Given the description of an element on the screen output the (x, y) to click on. 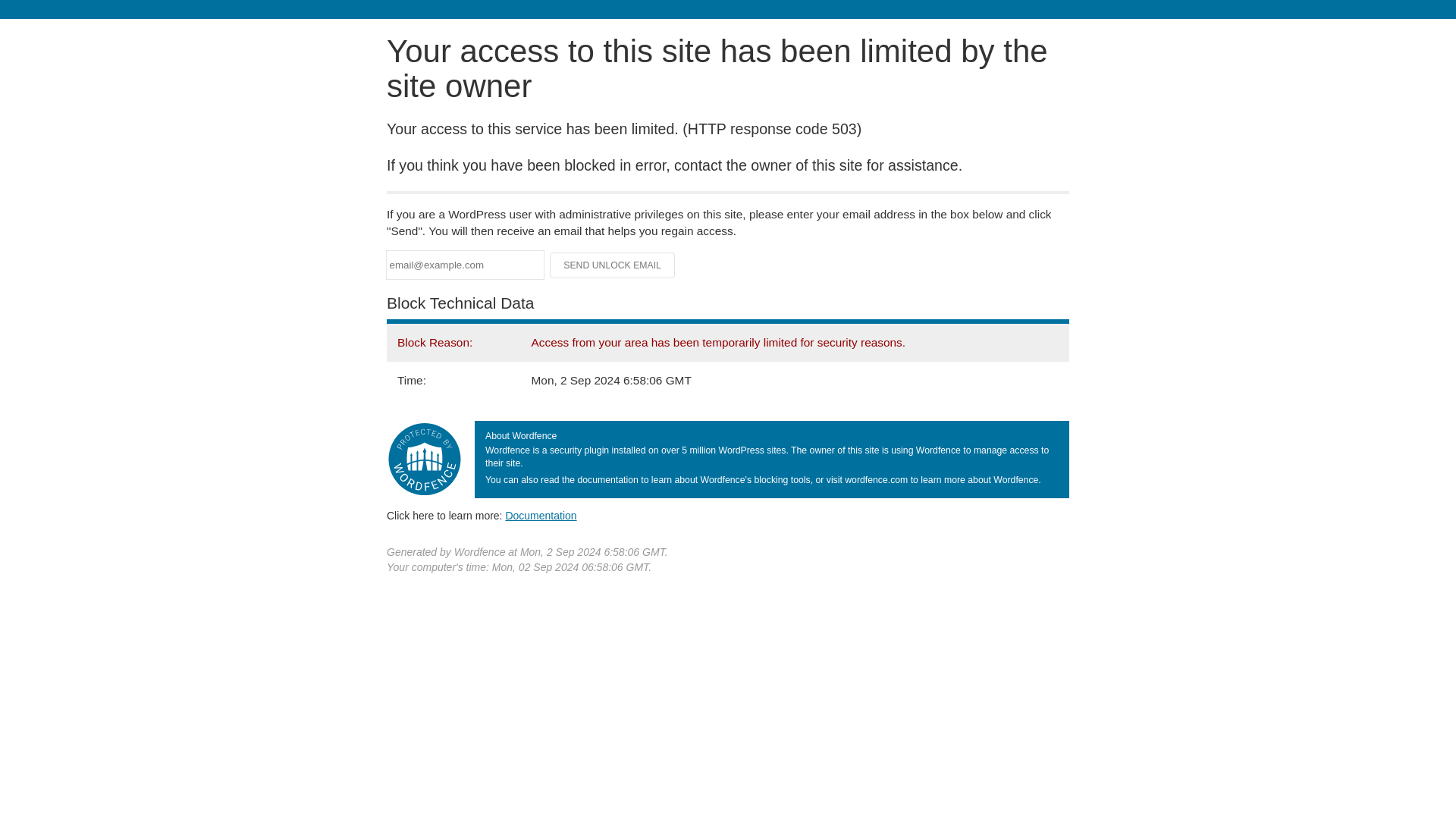
Documentation (540, 515)
Send Unlock Email (612, 265)
Send Unlock Email (612, 265)
